Given the description of an element on the screen output the (x, y) to click on. 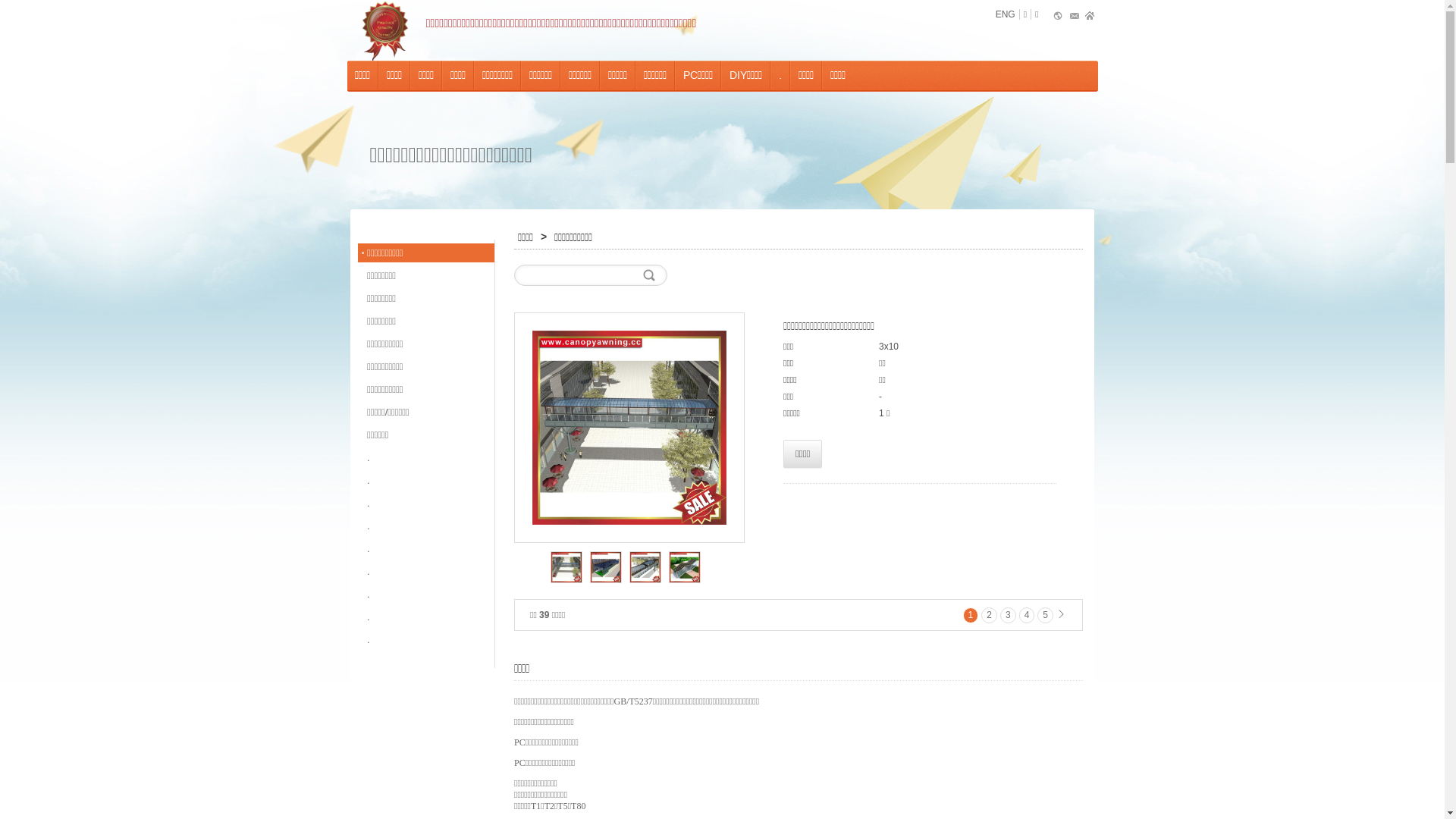
. Element type: text (425, 457)
. Element type: text (425, 479)
5 Element type: text (1045, 615)
. Element type: text (425, 593)
2 Element type: text (989, 615)
ENG Element type: text (1005, 14)
. Element type: text (425, 525)
. Element type: text (425, 502)
  Element type: text (386, 30)
. Element type: text (425, 570)
4 Element type: text (1027, 615)
. Element type: text (425, 548)
. Element type: text (425, 616)
3 Element type: text (1008, 615)
Sitemap Element type: text (1057, 16)
Home Element type: text (1089, 16)
Contact Element type: text (1073, 16)
. Element type: text (780, 75)
1 Element type: text (971, 615)
. Element type: text (425, 639)
